Given the description of an element on the screen output the (x, y) to click on. 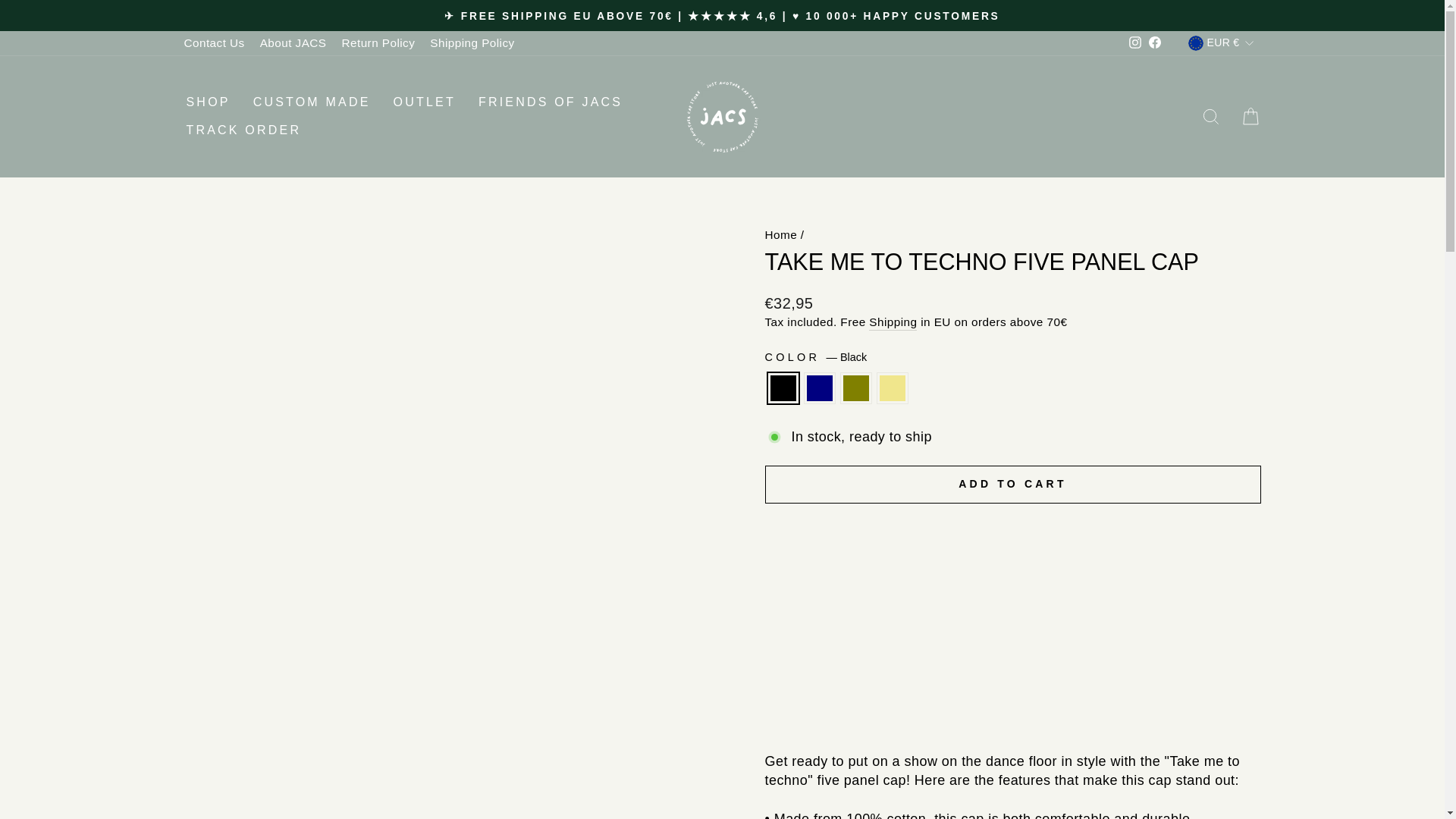
Return Policy (377, 42)
About JACS (292, 42)
Contact Us (213, 42)
Back to the frontpage (780, 234)
Shipping Policy (471, 42)
